Given the description of an element on the screen output the (x, y) to click on. 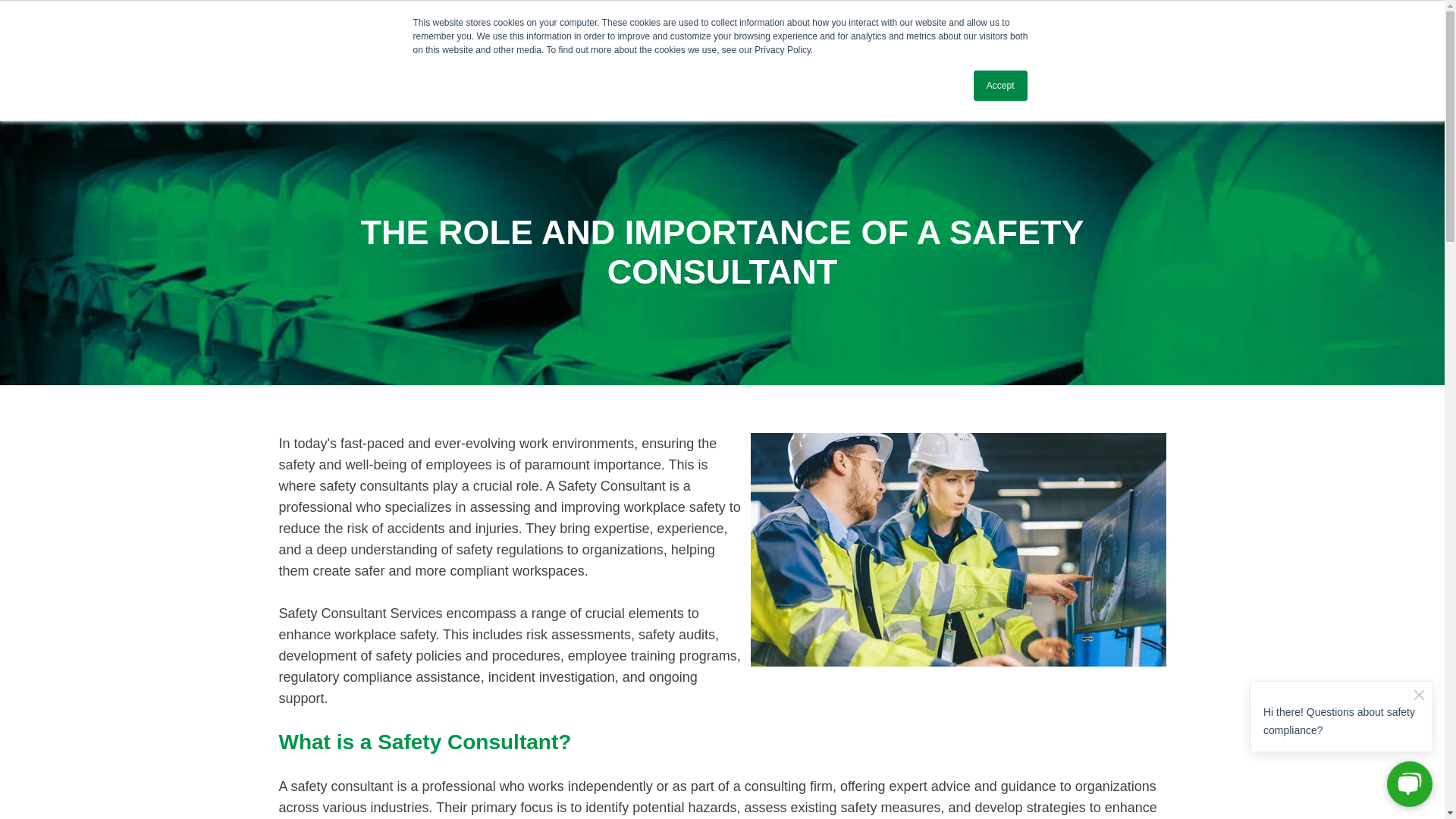
BLOG (860, 100)
TESTIMONIALS (1037, 100)
SERVICES (791, 100)
HOME (638, 100)
RESOURCES (937, 100)
CONTACT (1130, 100)
SafetyPro Resources Logo (357, 70)
Accept (1000, 85)
ABOUT US (710, 100)
